Given the description of an element on the screen output the (x, y) to click on. 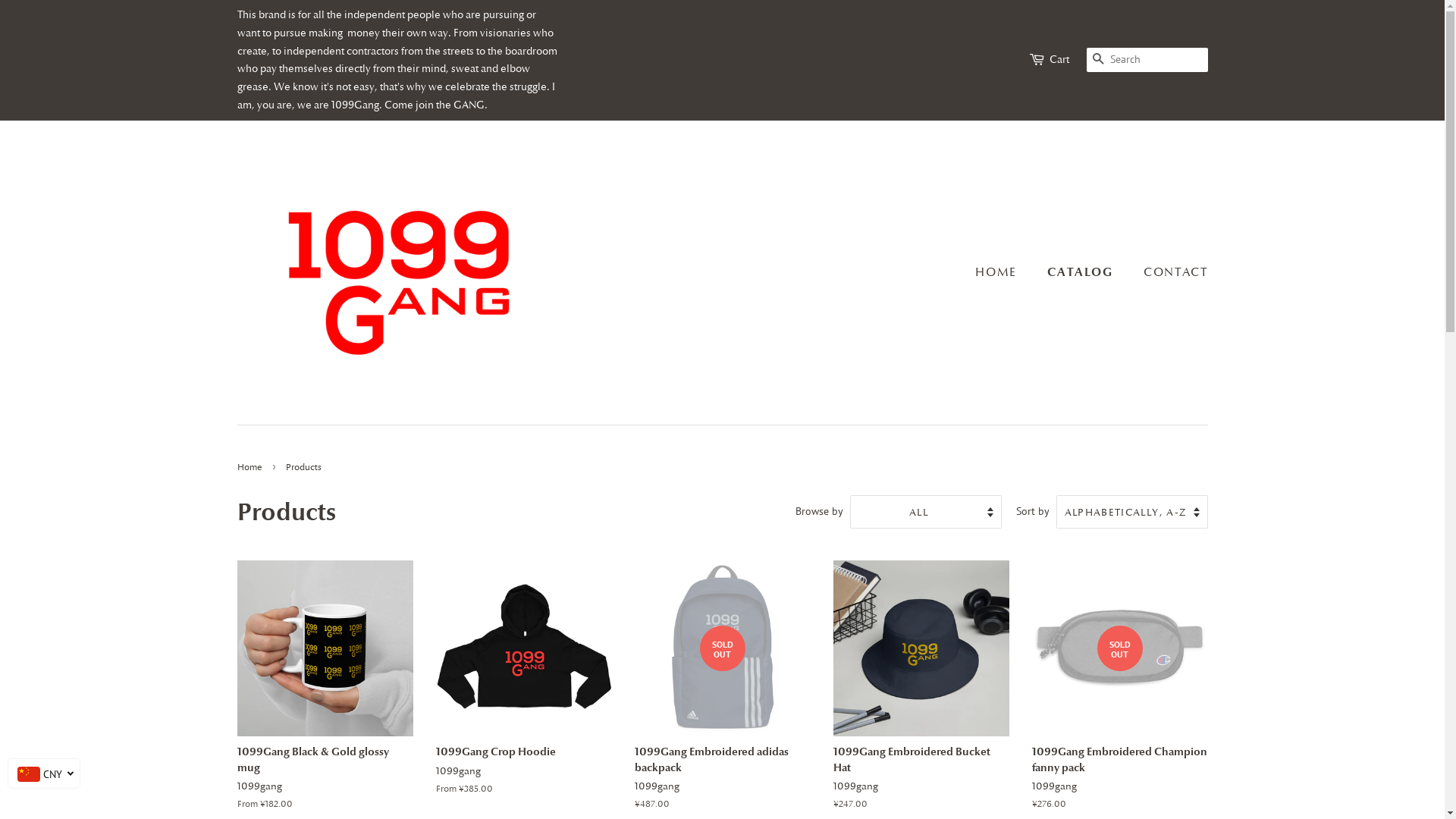
CONTACT Element type: text (1169, 272)
SEARCH Element type: text (1097, 59)
Cart Element type: text (1059, 59)
HOME Element type: text (1003, 272)
Home Element type: text (250, 467)
CATALOG Element type: text (1081, 271)
